Given the description of an element on the screen output the (x, y) to click on. 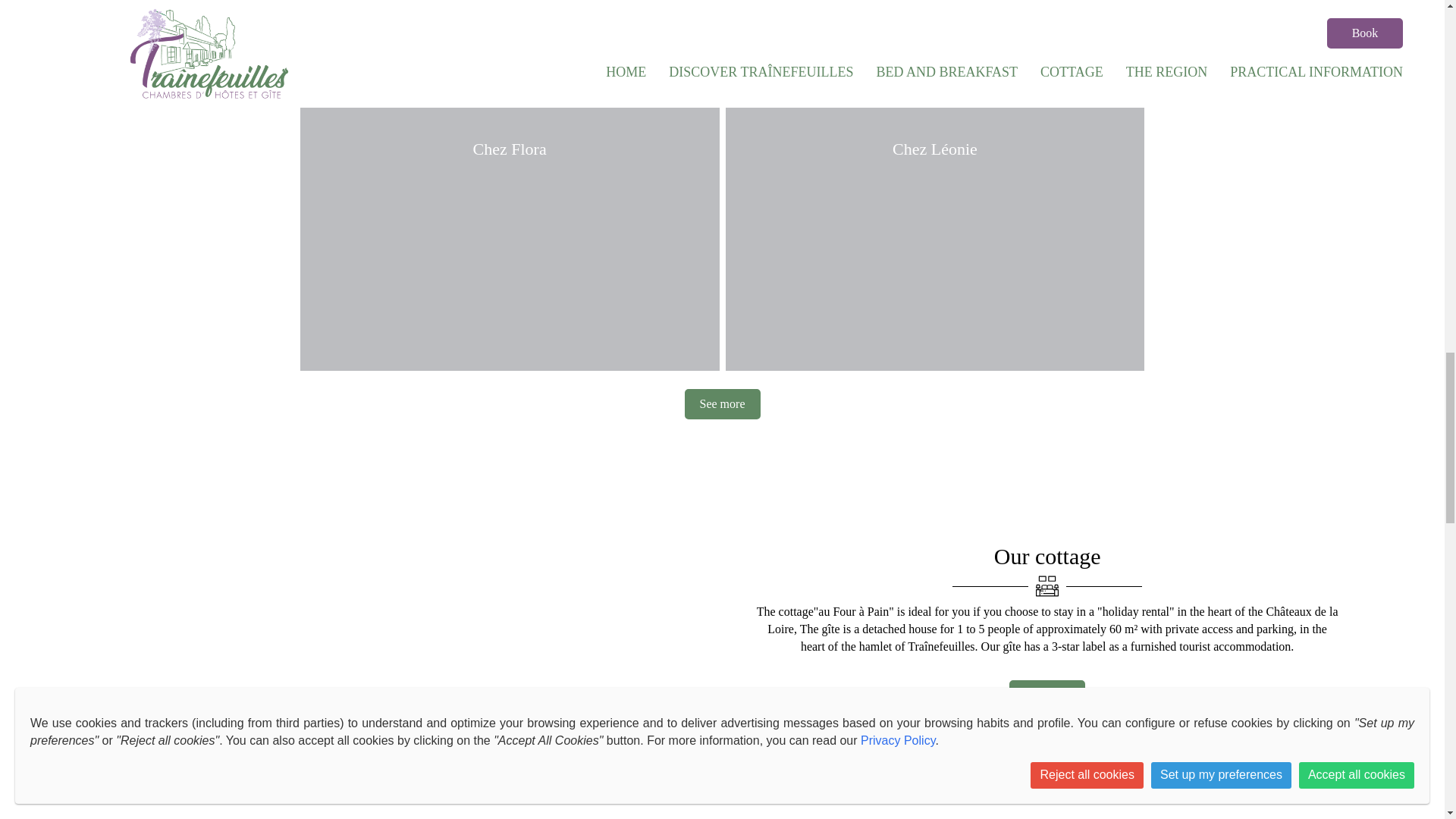
See more (722, 404)
Discover (1046, 695)
